Given the description of an element on the screen output the (x, y) to click on. 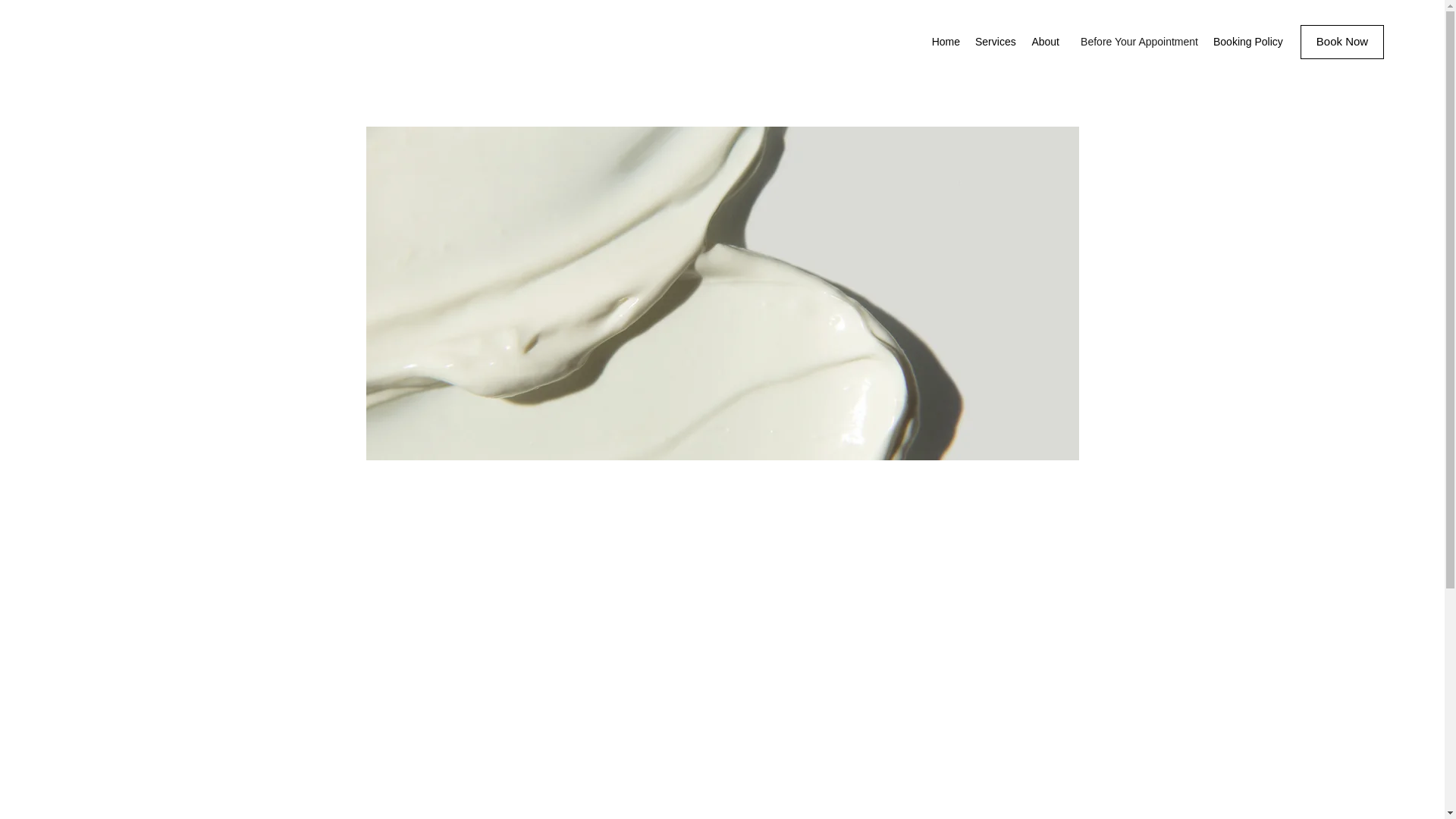
Before Your Appointment (1136, 41)
About (1044, 41)
Services (995, 41)
Booking Policy (1247, 41)
Home (945, 41)
Book Now (1342, 41)
